Given the description of an element on the screen output the (x, y) to click on. 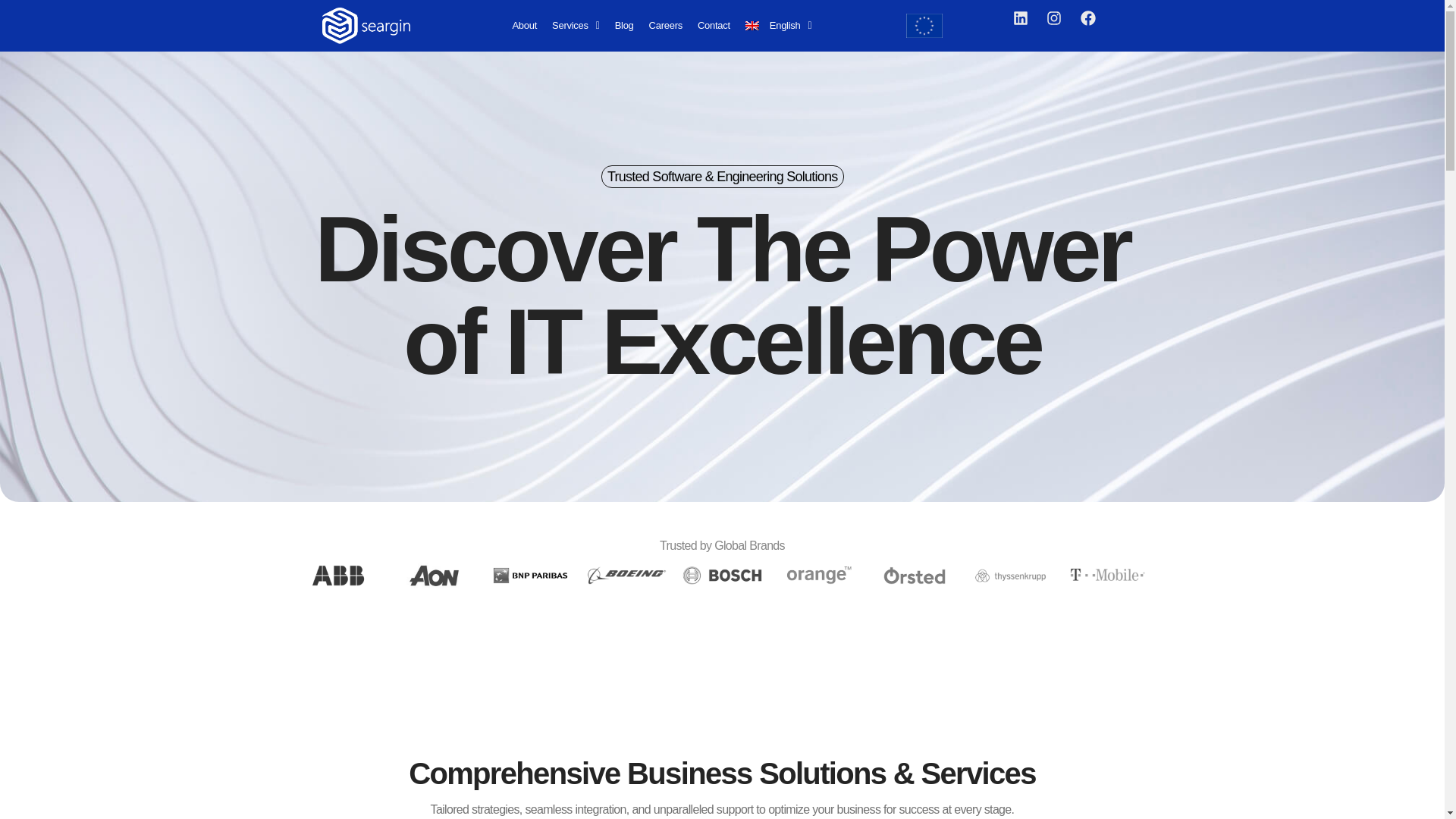
English (778, 25)
Blog (624, 25)
Careers (666, 25)
Services (575, 25)
Contact (714, 25)
About (523, 25)
English (778, 25)
